Given the description of an element on the screen output the (x, y) to click on. 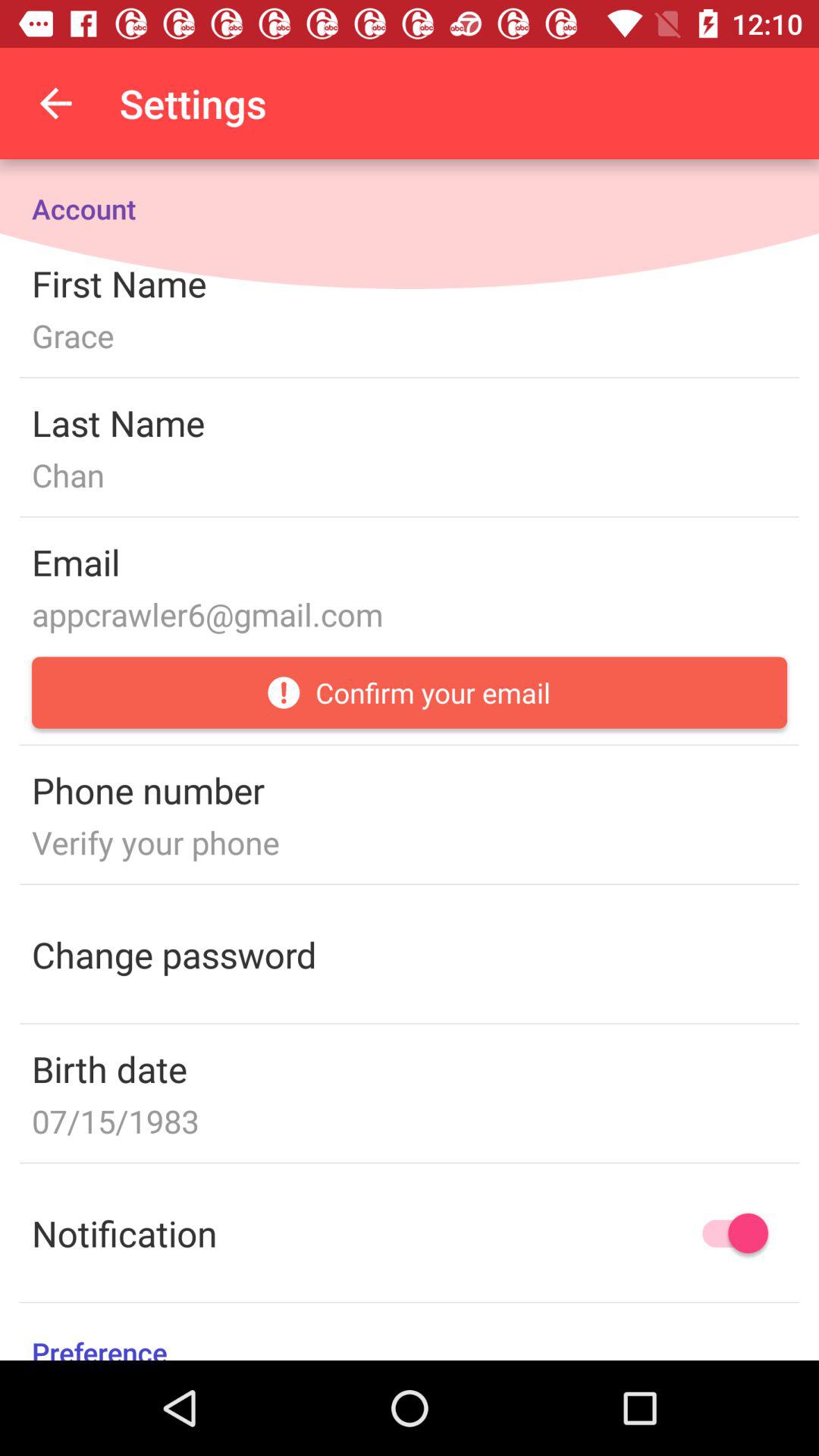
toggle notification (727, 1233)
